Given the description of an element on the screen output the (x, y) to click on. 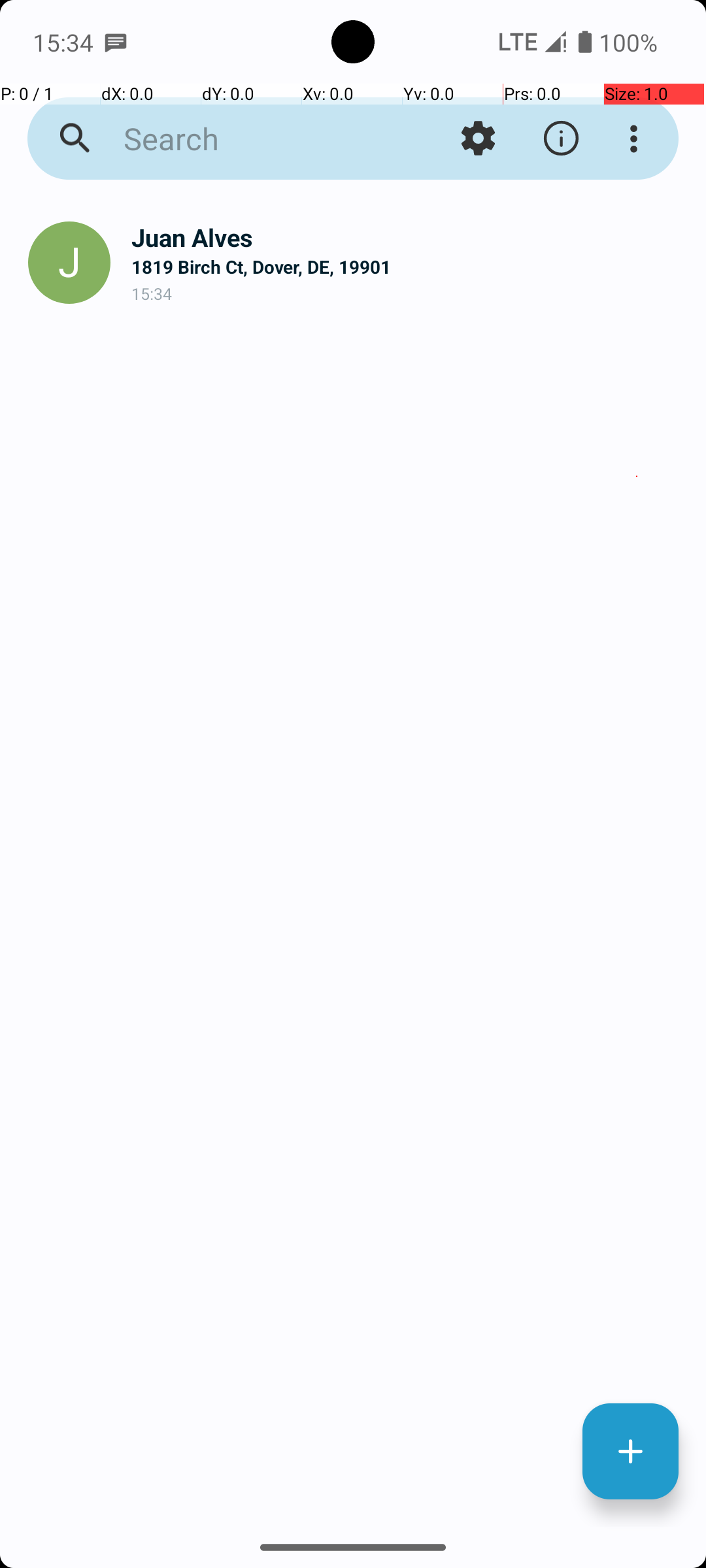
Juan Alves Element type: android.widget.TextView (408, 237)
1819 Birch Ct, Dover, DE, 19901 Element type: android.widget.TextView (408, 266)
SMS Messenger notification: Juan Alves Element type: android.widget.ImageView (115, 41)
